Given the description of an element on the screen output the (x, y) to click on. 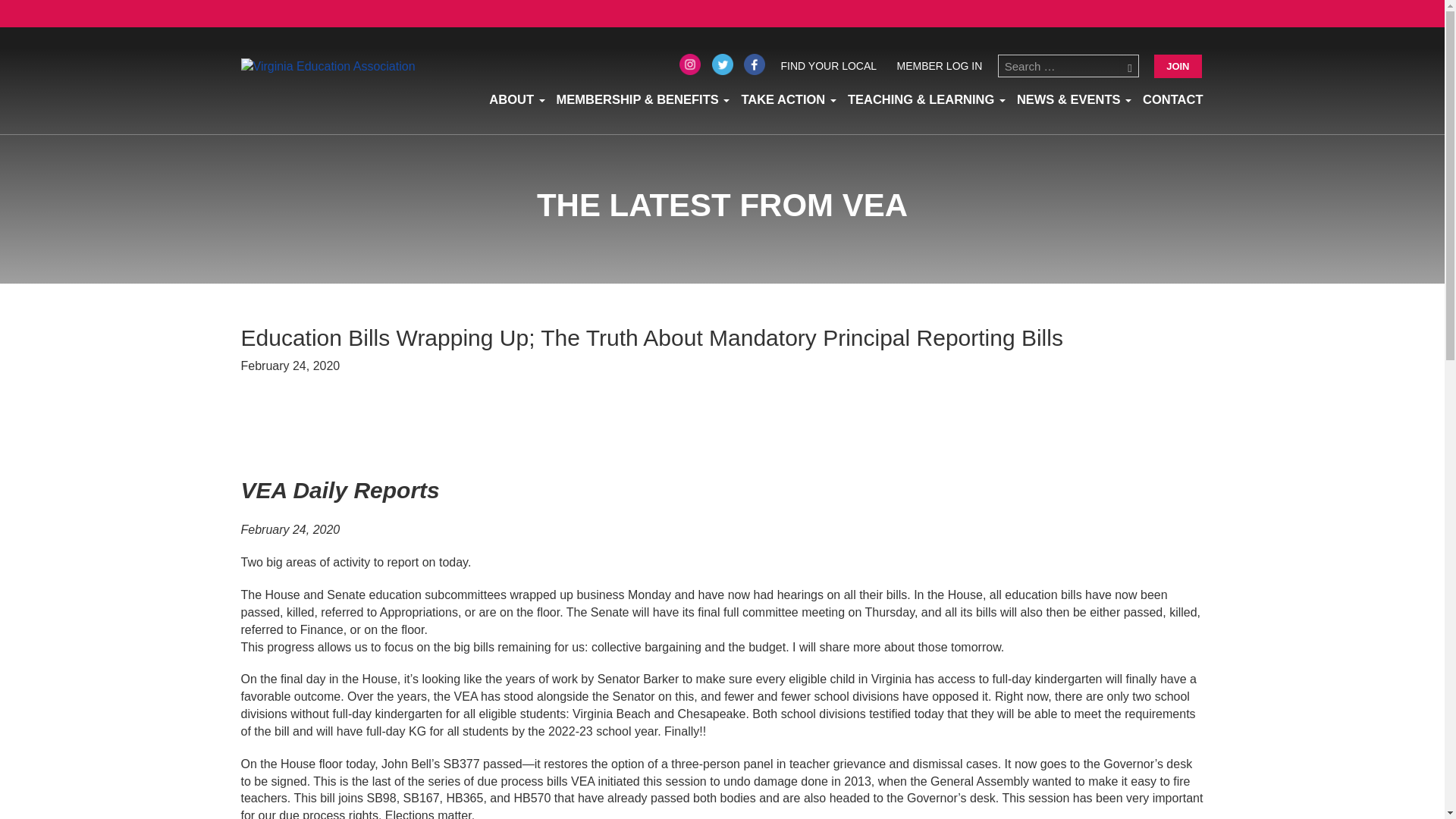
MEMBER LOG IN (939, 65)
FIND YOUR LOCAL (829, 65)
JOIN (1177, 65)
ABOUT (510, 98)
